Given the description of an element on the screen output the (x, y) to click on. 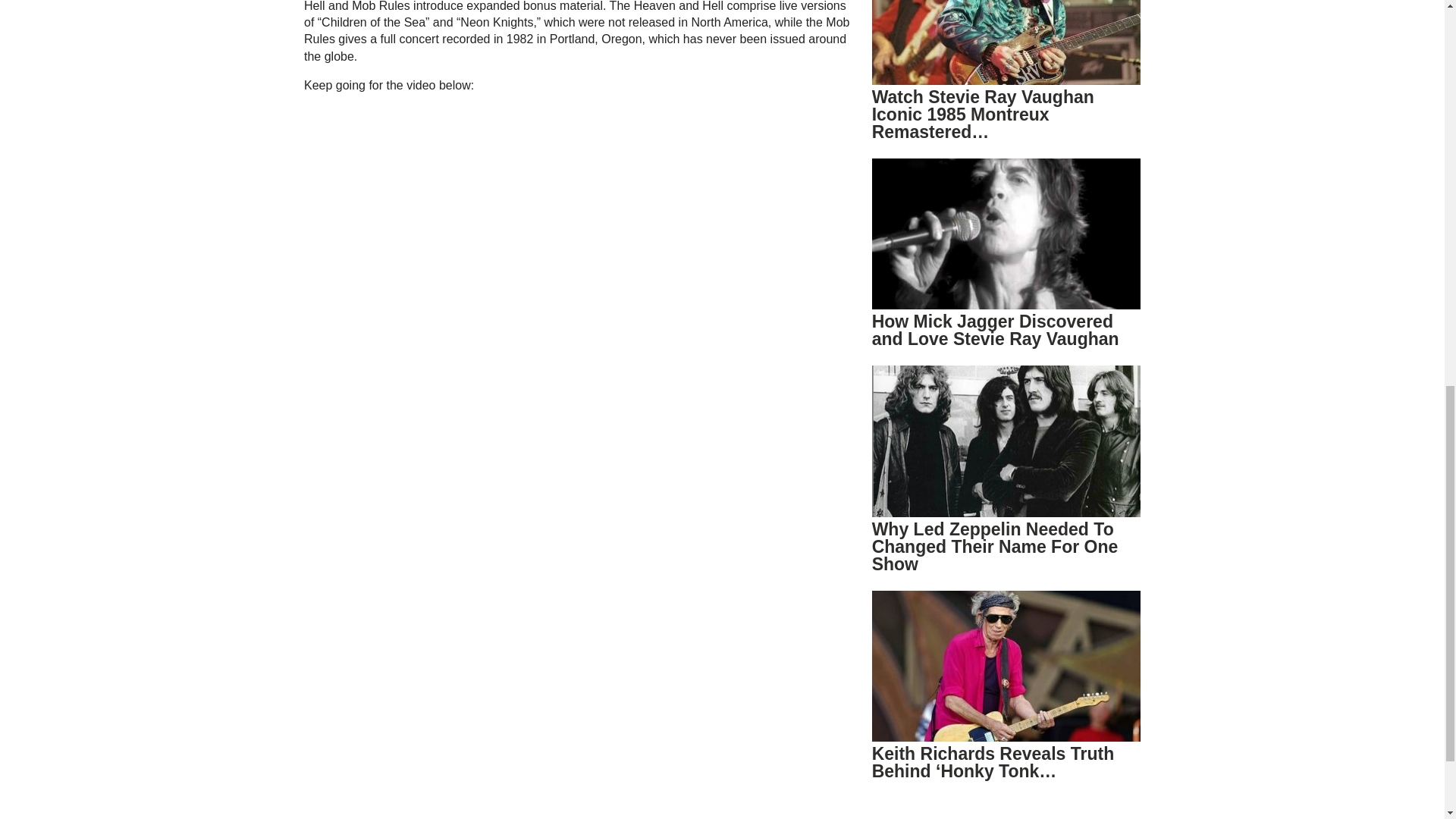
How Mick Jagger Discovered and Love Stevie Ray Vaughan (995, 330)
Why Led Zeppelin Needed To Changed Their Name For One Show (995, 546)
